Given the description of an element on the screen output the (x, y) to click on. 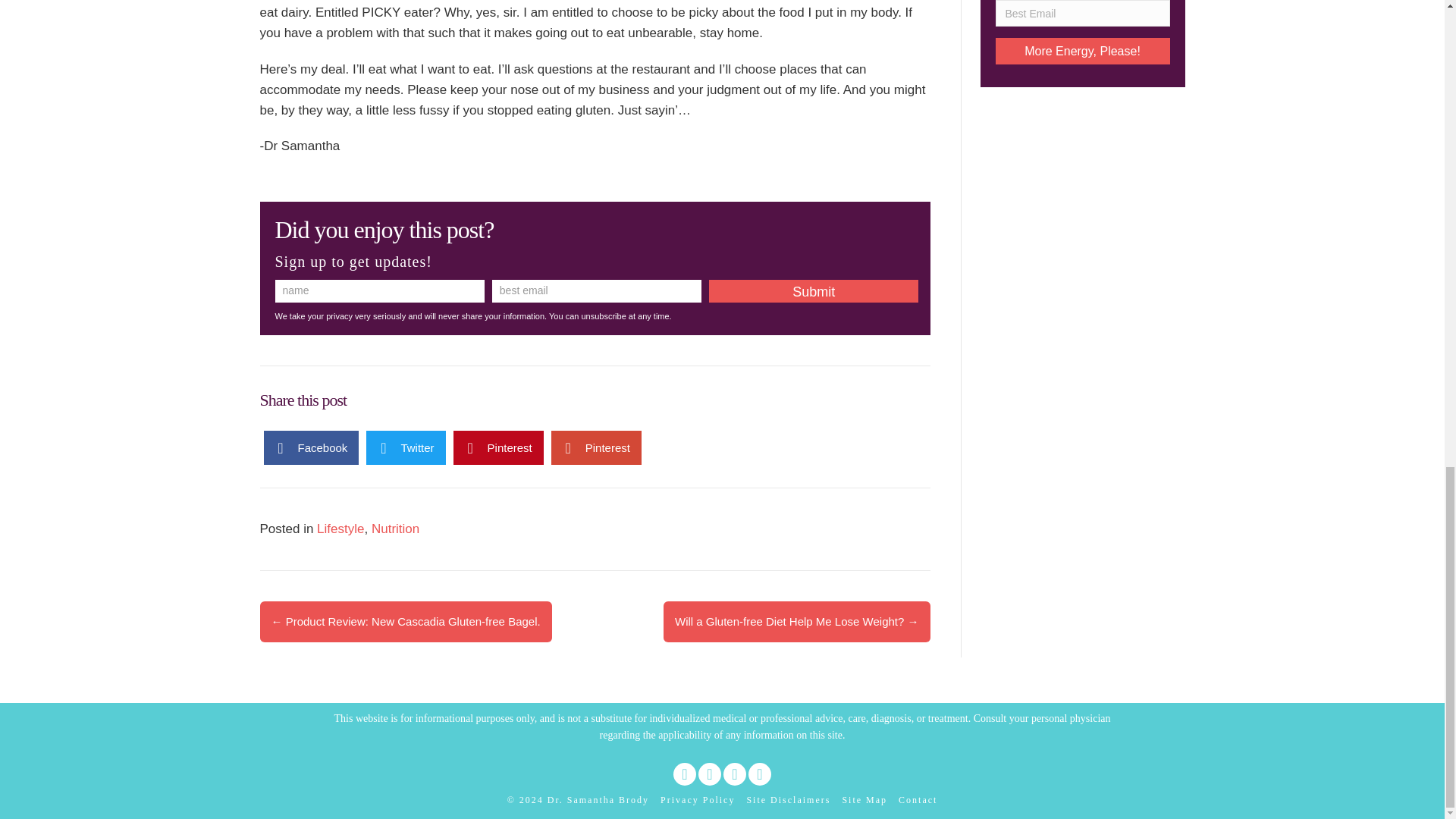
More Energy, Please! (1081, 50)
Submit (813, 291)
Pinterest (734, 773)
Nutrition (395, 528)
Lifestyle (340, 528)
Instagram (759, 773)
Dr. Samantha Holistic Medicine Site Map (863, 800)
Twitter (405, 447)
LinkedIn (709, 773)
Facebook (311, 447)
Privacy Policy (698, 800)
Facebook (683, 773)
Pinterest (596, 447)
Pinterest (497, 447)
